Given the description of an element on the screen output the (x, y) to click on. 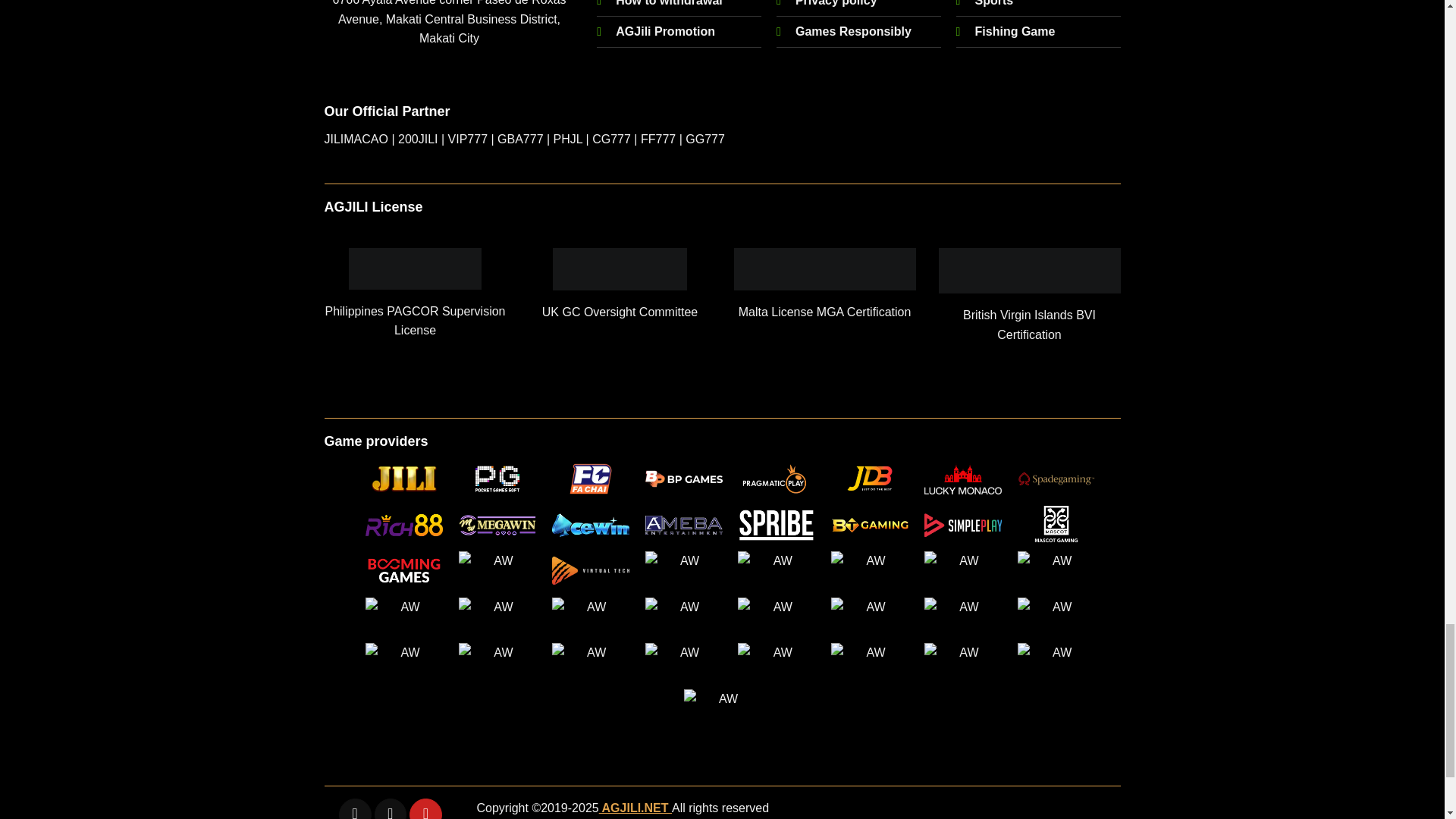
Follow on X (355, 808)
Follow on Pinterest (425, 808)
Send us an email (390, 808)
